Given the description of an element on the screen output the (x, y) to click on. 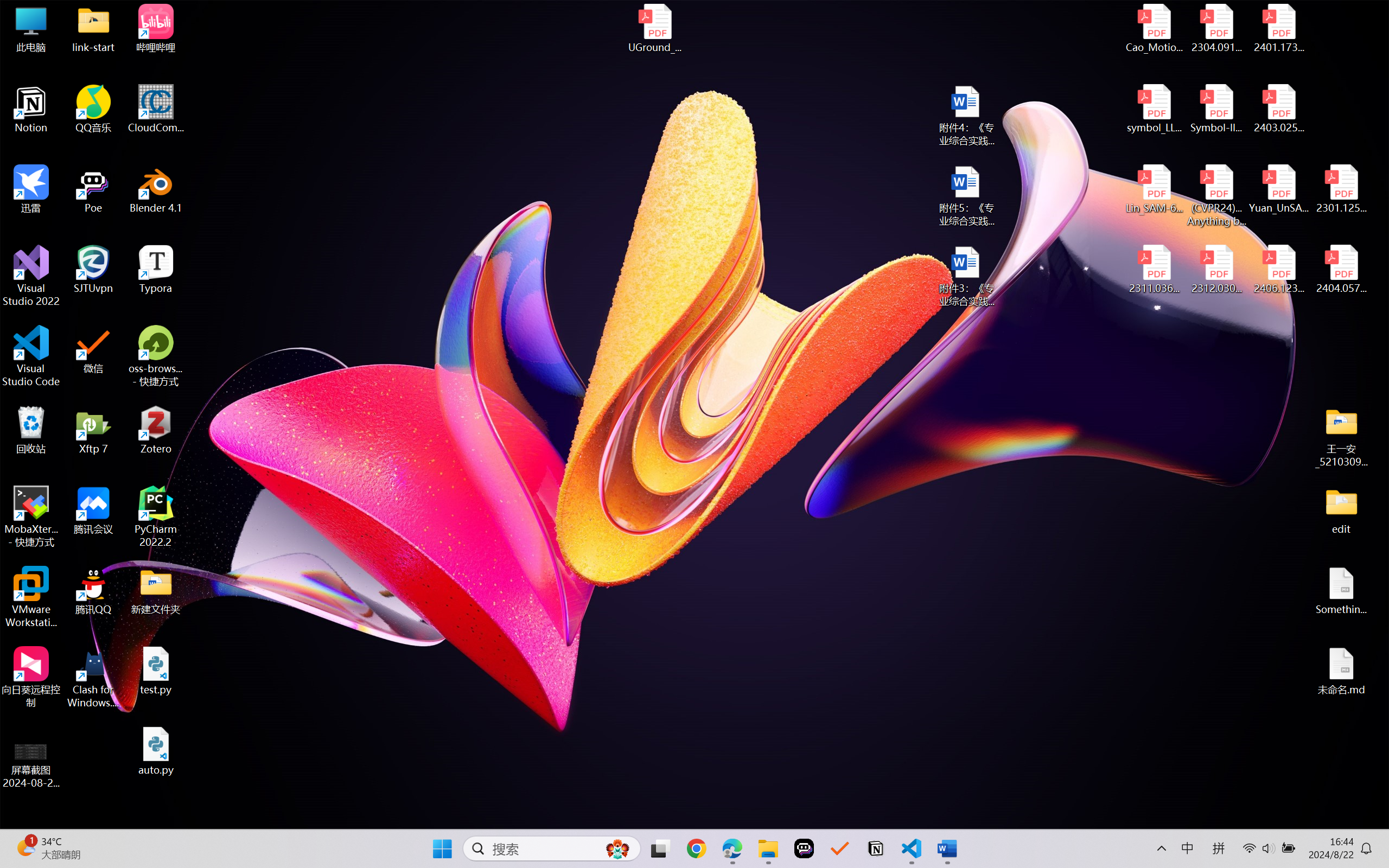
edit (1340, 510)
PyCharm 2022.2 (156, 516)
